Given the description of an element on the screen output the (x, y) to click on. 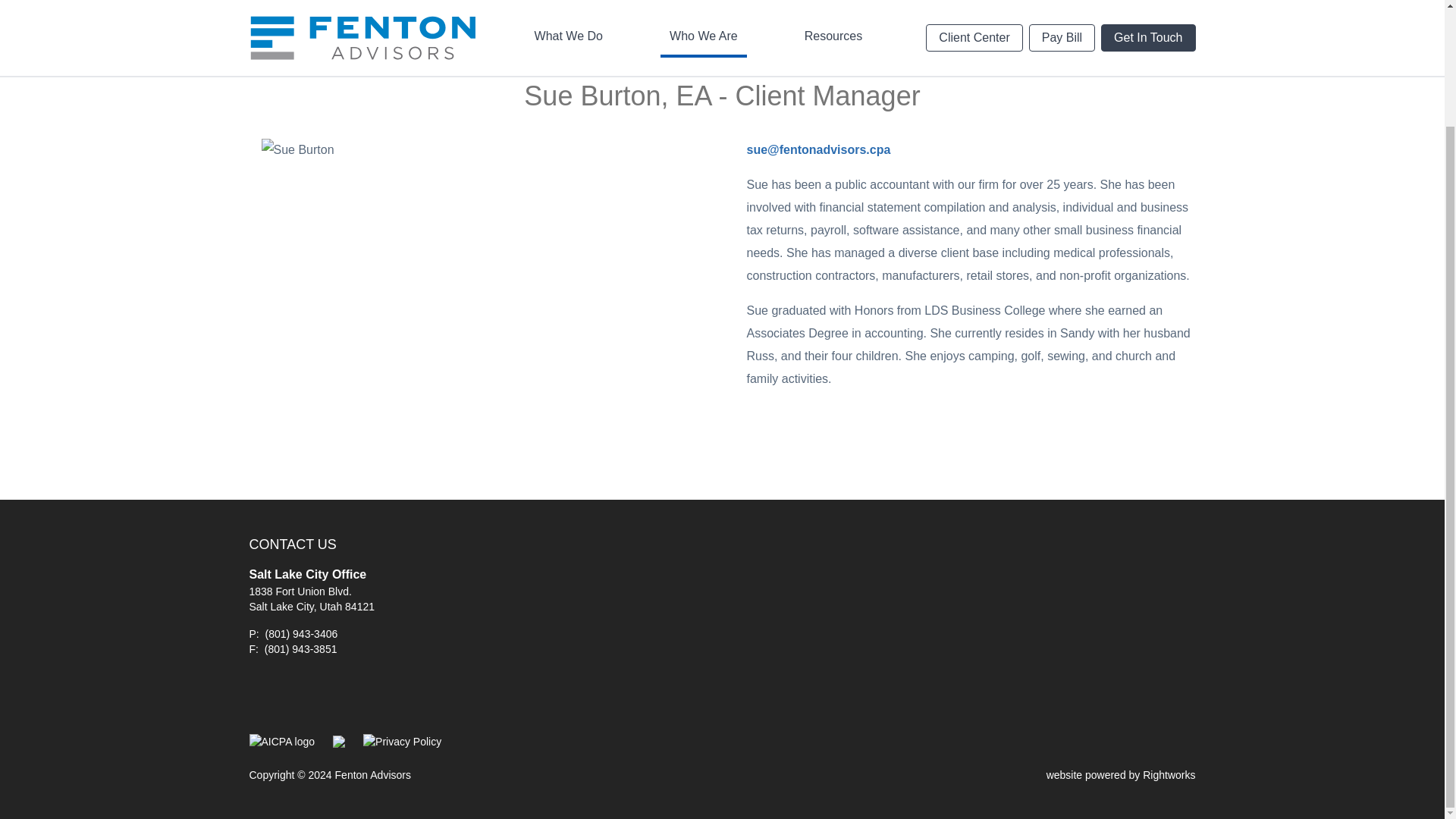
Instagram (332, 695)
Learn more about American Institute of CPAs (281, 740)
Linkedin (298, 695)
Twitter (366, 695)
Learn more about Utah Association of CPAs (339, 740)
Facebook (263, 695)
Learn more about Privacy Policy (401, 740)
